Given the description of an element on the screen output the (x, y) to click on. 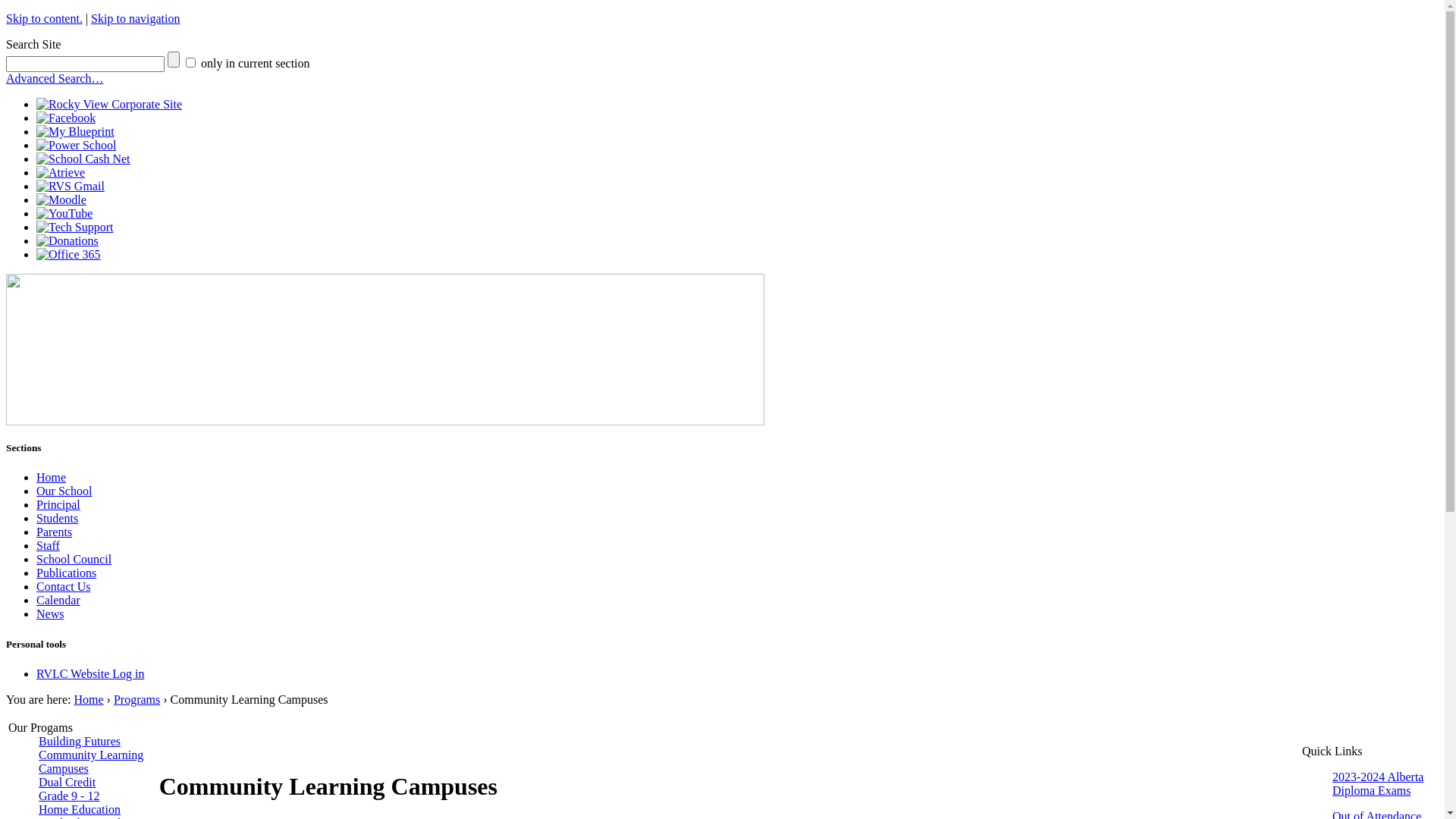
Home Education Element type: text (79, 809)
Atrieve Element type: hover (60, 172)
Community Learning Campuses Element type: text (90, 761)
Moodle Element type: hover (61, 199)
Programs Element type: text (136, 699)
Home Element type: text (50, 476)
Principal Element type: text (58, 504)
School Cash Net Element type: hover (83, 158)
News Element type: text (49, 613)
Our School Element type: text (63, 490)
Skip to navigation Element type: text (135, 18)
Parents Element type: text (54, 531)
Students Element type: text (57, 517)
Grade 9 - 12 Element type: text (68, 795)
Contact Us Element type: text (63, 586)
RVS Gmail Element type: hover (70, 185)
Office 365 Element type: hover (68, 253)
Home Element type: text (88, 699)
Tech Support Element type: hover (74, 226)
Publications Element type: text (66, 572)
Rocky View Corporate Site Element type: hover (109, 103)
Calendar Element type: text (58, 599)
RVLC Website Log in Element type: text (90, 673)
Power School Element type: hover (76, 144)
Building Futures Element type: text (79, 740)
Facebook Element type: hover (65, 117)
Dual Credit Element type: text (66, 781)
Search Site Element type: hover (85, 64)
Skip to content. Element type: text (44, 18)
2023-2024 Alberta Diploma Exams Element type: text (1377, 783)
My Blueprint Element type: hover (75, 131)
YouTube Element type: hover (64, 213)
School Council Element type: text (73, 558)
Staff Element type: text (47, 545)
Donations Element type: hover (67, 240)
